Given the description of an element on the screen output the (x, y) to click on. 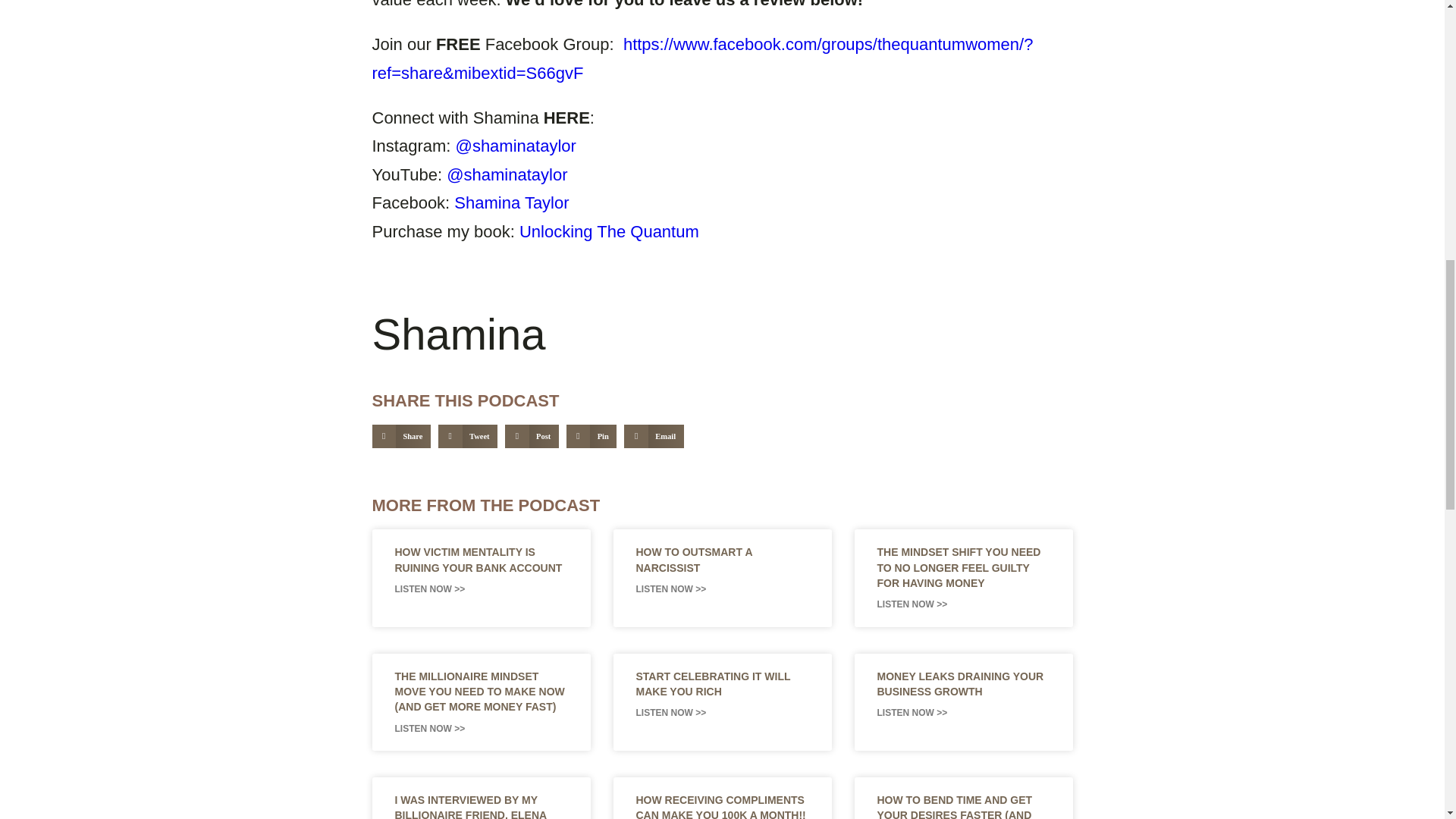
Unlocking The Quantum (608, 230)
START CELEBRATING IT WILL MAKE YOU RICH (712, 683)
HOW VICTIM MENTALITY IS RUINING YOUR BANK ACCOUNT (478, 559)
MONEY LEAKS DRAINING YOUR BUSINESS GROWTH (959, 683)
HOW TO OUTSMART A NARCISSIST (692, 559)
HOW RECEIVING COMPLIMENTS CAN MAKE YOU 100K A MONTH!! (719, 806)
Shamina Taylor (511, 202)
